Given the description of an element on the screen output the (x, y) to click on. 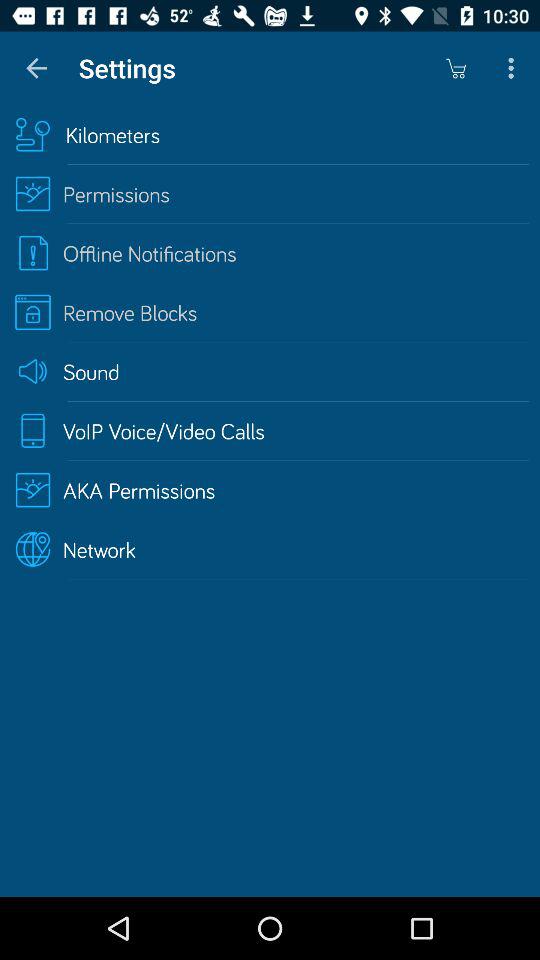
select the icon to the left of the settings item (36, 68)
